Given the description of an element on the screen output the (x, y) to click on. 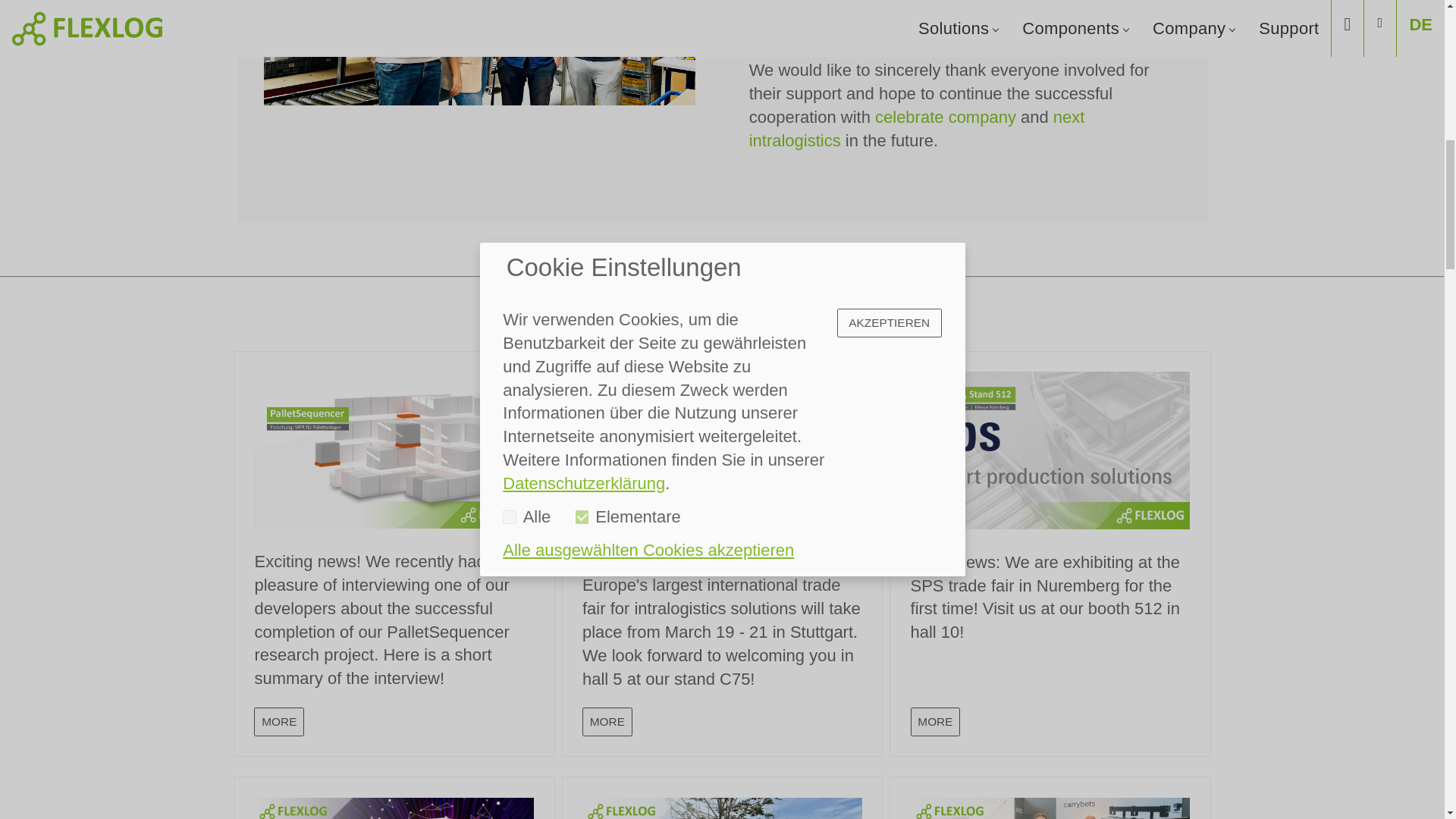
MORE (935, 721)
next intralogistics  (916, 128)
MORE (606, 721)
celebrate company (945, 116)
MORE (278, 721)
